Given the description of an element on the screen output the (x, y) to click on. 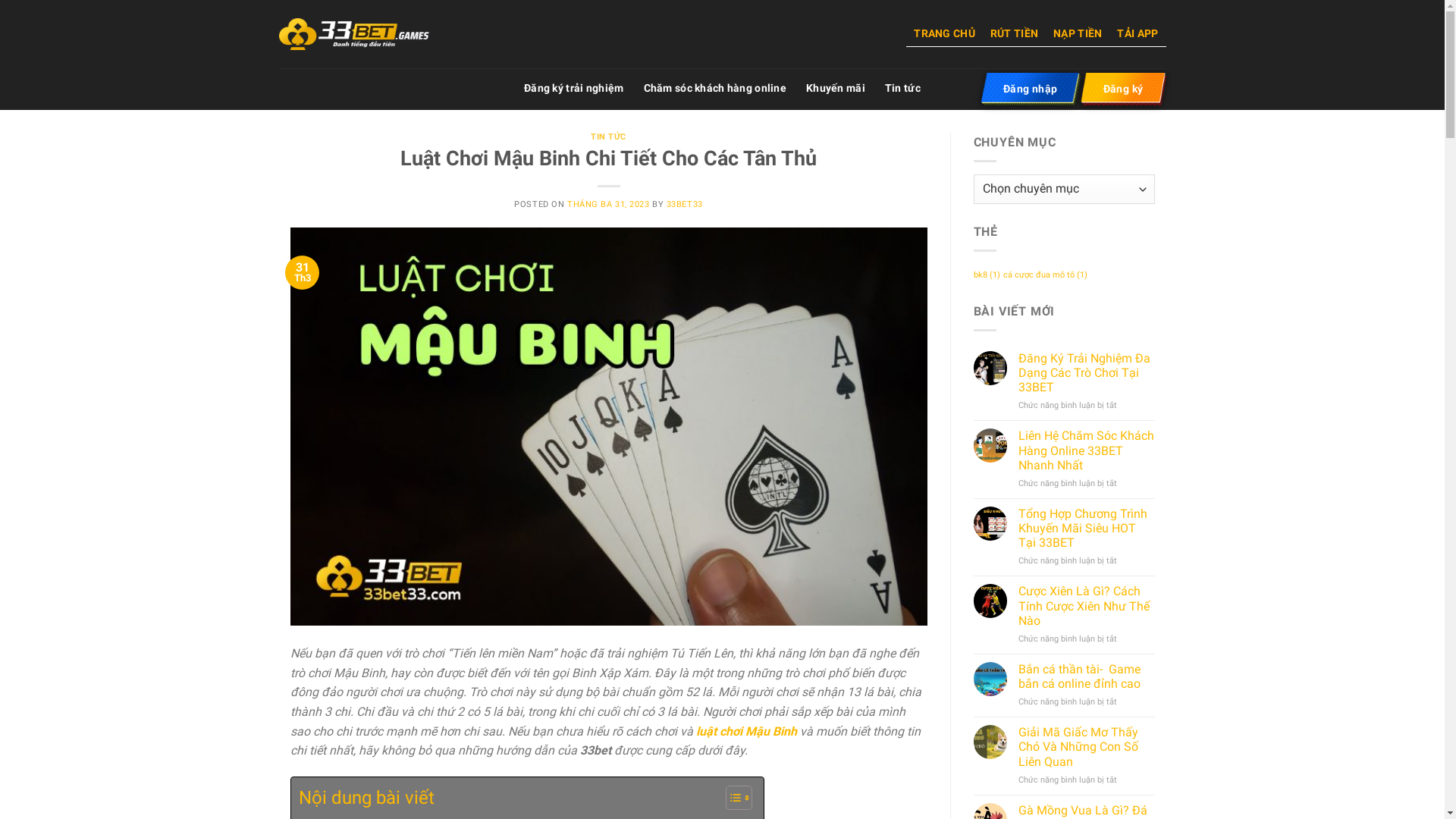
bk8 (1) Element type: text (986, 274)
33BET33 Element type: text (684, 204)
33BET Element type: hover (354, 34)
